Given the description of an element on the screen output the (x, y) to click on. 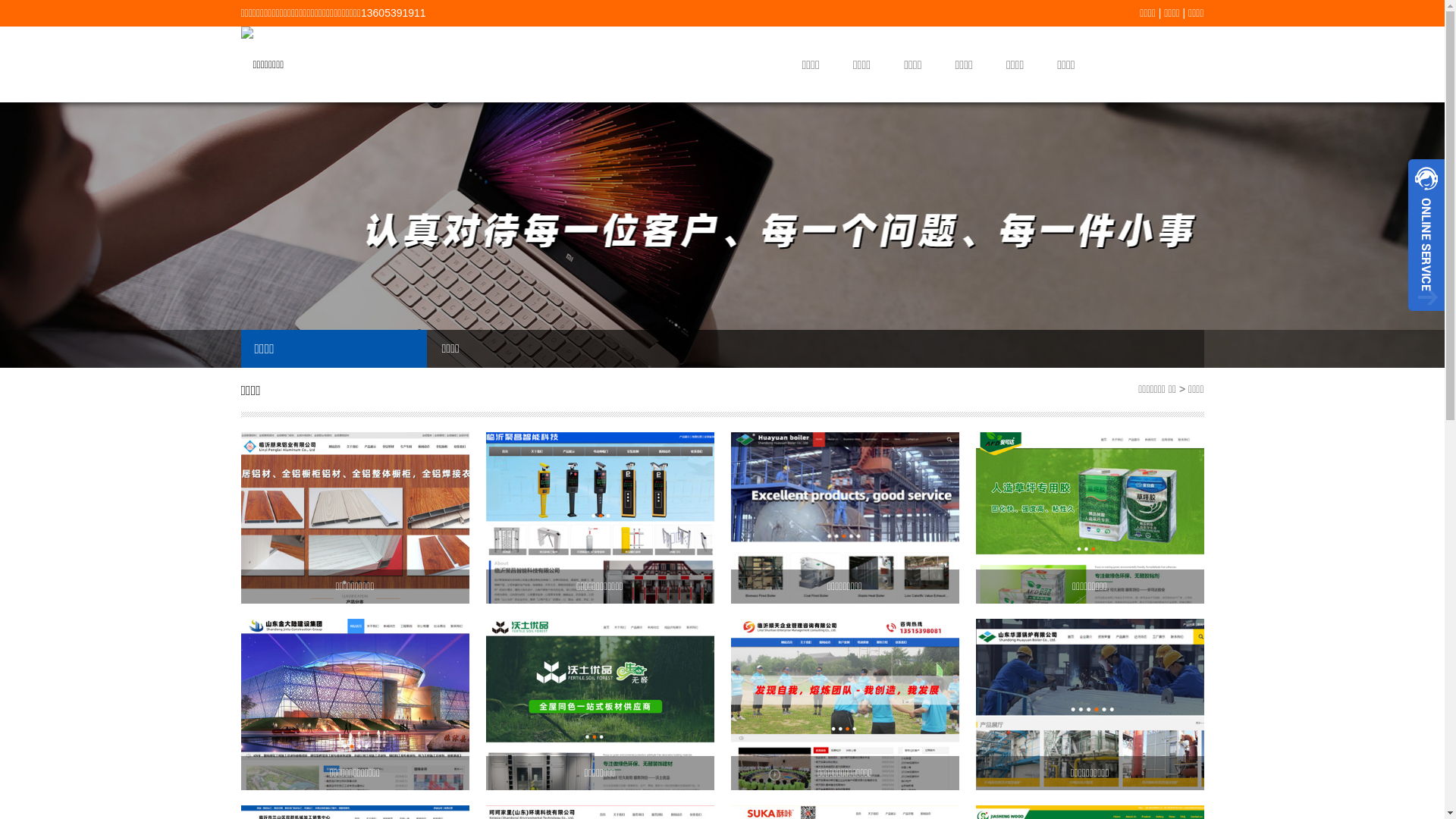
Close Element type: hover (1426, 316)
  Element type: text (1426, 316)
  Element type: text (1426, 234)
Open Element type: hover (1426, 234)
